Given the description of an element on the screen output the (x, y) to click on. 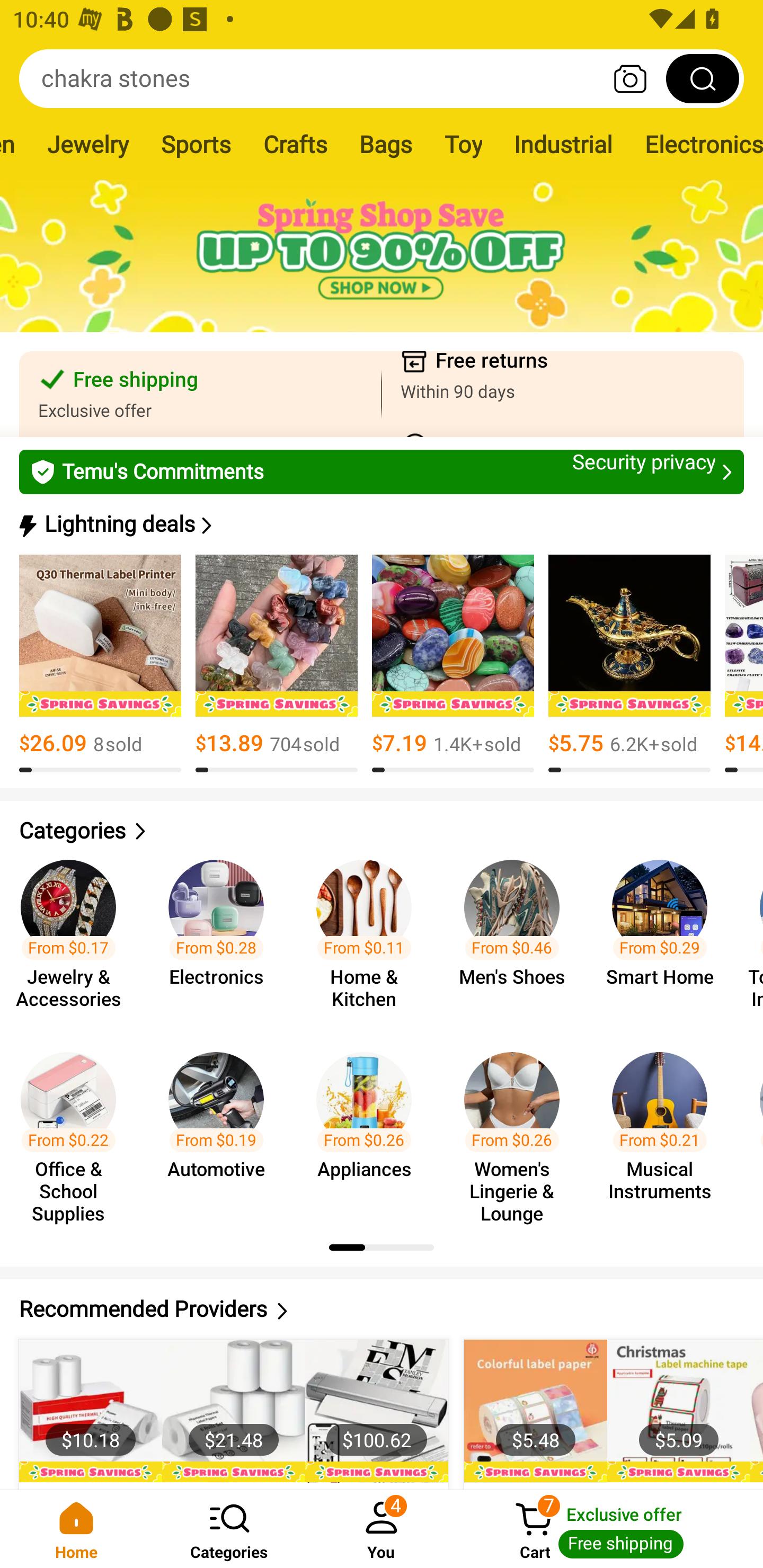
chakra stones (381, 78)
Jewelry (87, 144)
Sports (195, 144)
Crafts (295, 144)
Bags (385, 144)
Toy (463, 144)
Industrial (563, 144)
Electronics (695, 144)
Free shipping Exclusive offer (200, 394)
Free returns Within 90 days (562, 394)
Temu's Commitments (381, 471)
Lightning deals (379, 524)
$26.09 8￼sold 8.0 (100, 664)
$13.89 704￼sold 8.0 (276, 664)
$7.19 1.4K+￼sold 8.0 (453, 664)
$5.75 6.2K+￼sold 8.0 (629, 664)
Categories (381, 830)
From $0.17 Jewelry & Accessories (74, 936)
From $0.28 Electronics (222, 936)
From $0.11 Home & Kitchen (369, 936)
From $0.46 Men's Shoes (517, 936)
From $0.29 Smart Home (665, 936)
From $0.22 Office & School Supplies (74, 1128)
From $0.19 Automotive (222, 1128)
From $0.26 Appliances (369, 1128)
From $0.26 Women's Lingerie & Lounge (517, 1128)
From $0.21 Musical Instruments (665, 1128)
Recommended Providers (381, 1309)
Home (76, 1528)
Categories (228, 1528)
You 4 You (381, 1528)
Cart 7 Cart Exclusive offer (610, 1528)
